Given the description of an element on the screen output the (x, y) to click on. 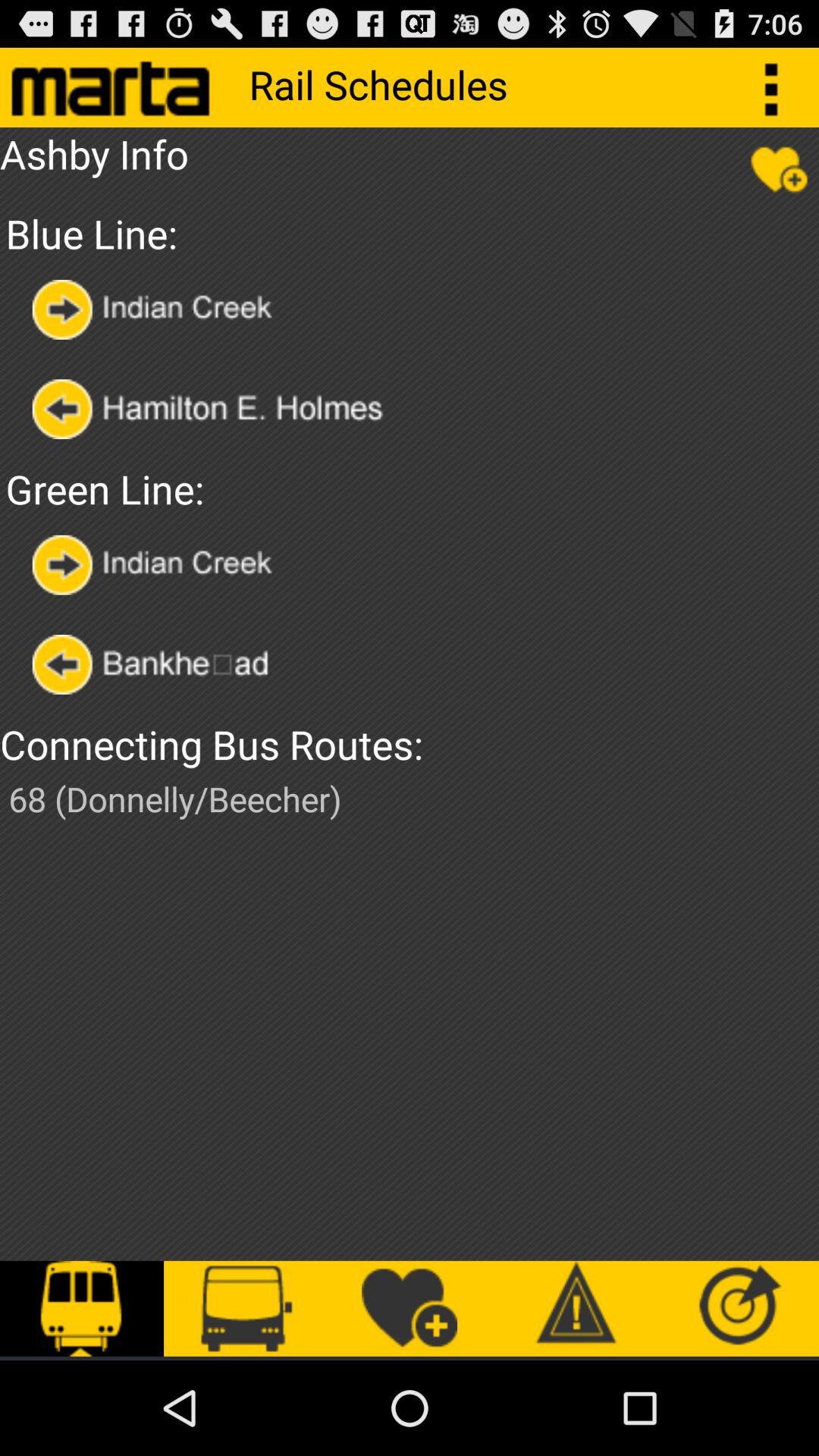
indian creek (156, 564)
